Given the description of an element on the screen output the (x, y) to click on. 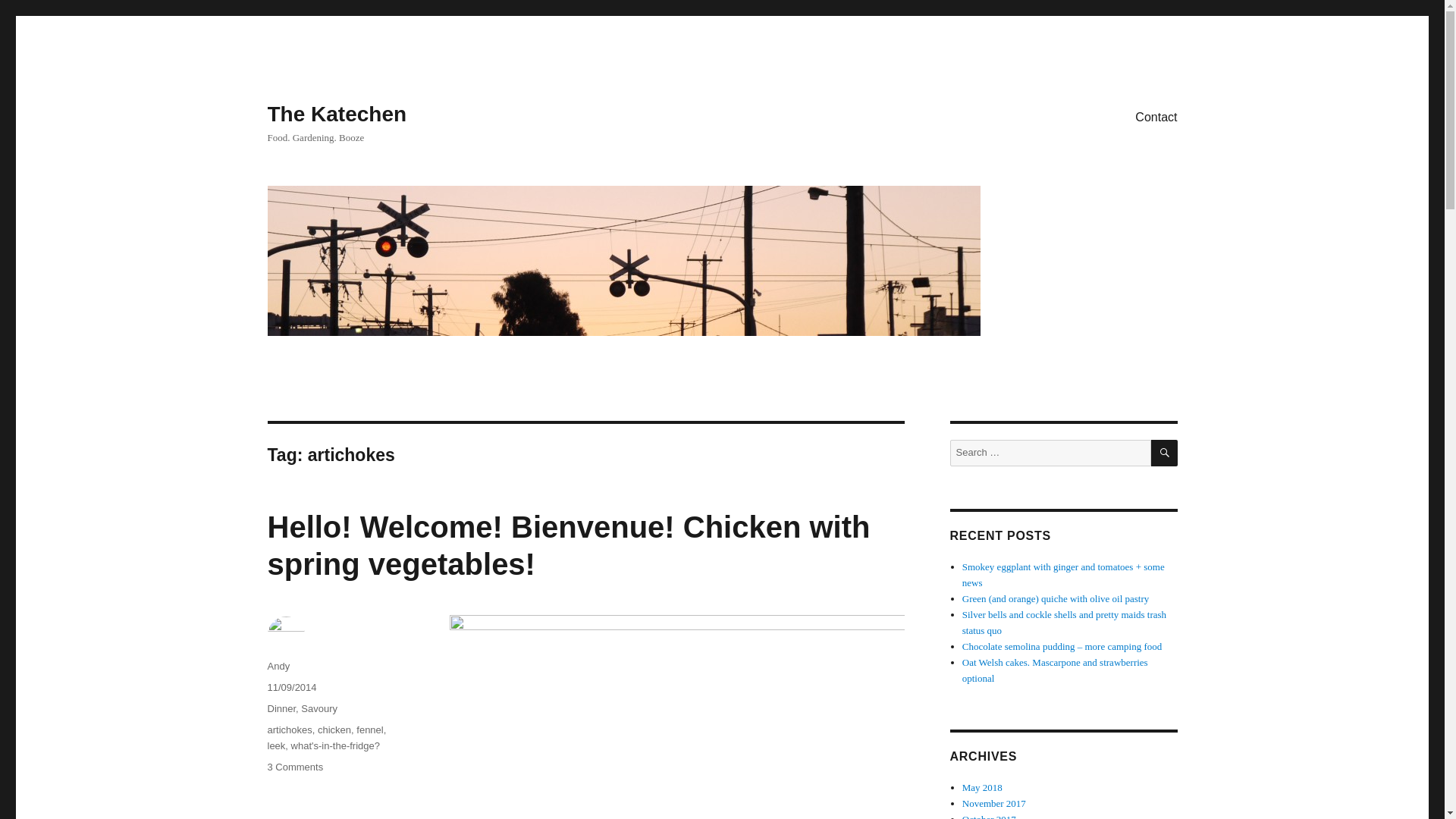
Dinner (280, 708)
Chicken with spring vegetables (676, 717)
leek (275, 745)
Hello! Welcome! Bienvenue! Chicken with spring vegetables! (567, 545)
Contact (1156, 116)
what's-in-the-fridge? (335, 745)
November 2017 (994, 803)
fennel (369, 729)
artichokes (288, 729)
Oat Welsh cakes. Mascarpone and strawberries optional (1055, 669)
The Katechen (336, 114)
SEARCH (1164, 452)
Savoury (319, 708)
